Given the description of an element on the screen output the (x, y) to click on. 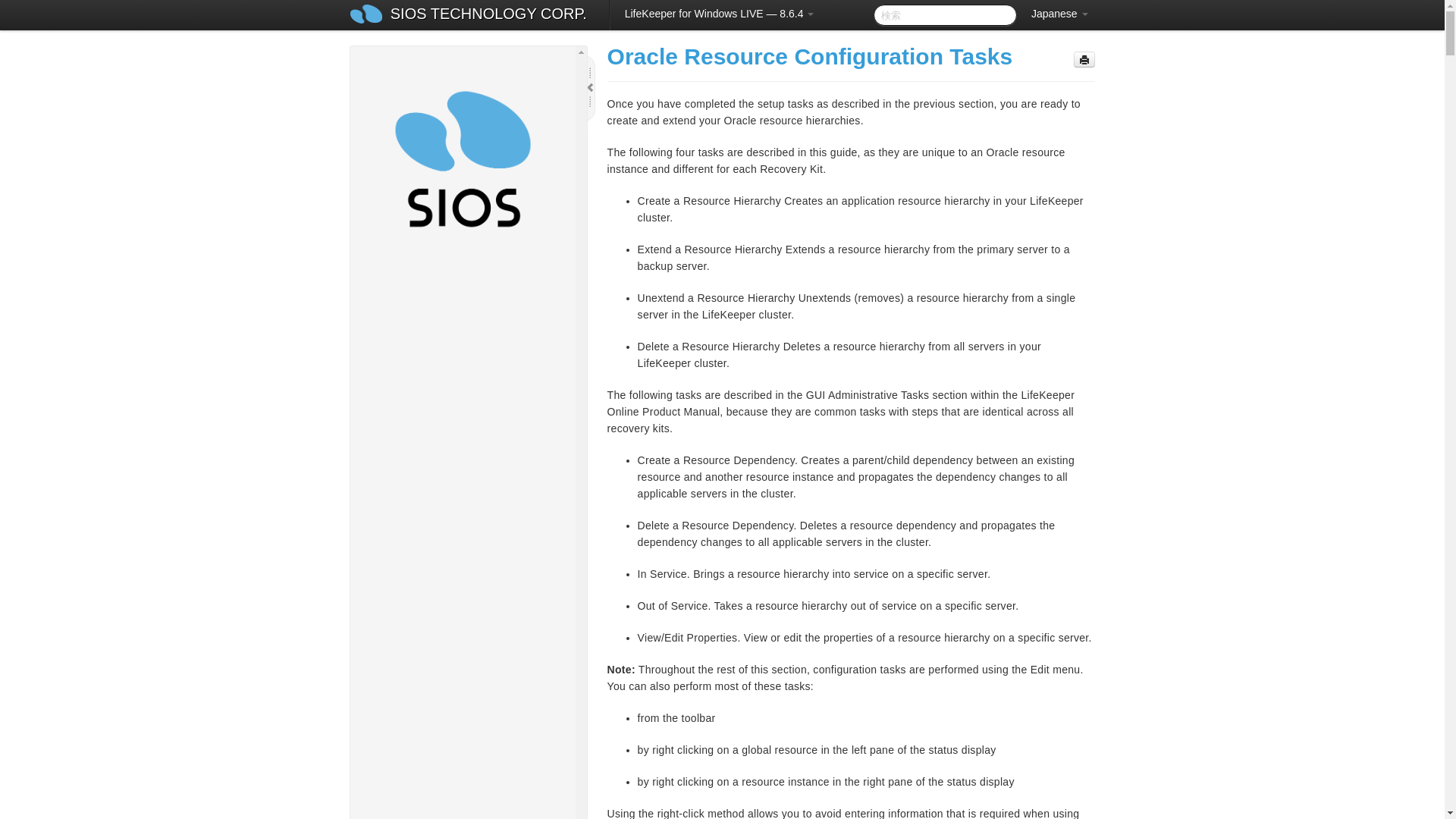
Japanese (1059, 14)
SIOS TECHNOLOGY CORP. (488, 15)
